Given the description of an element on the screen output the (x, y) to click on. 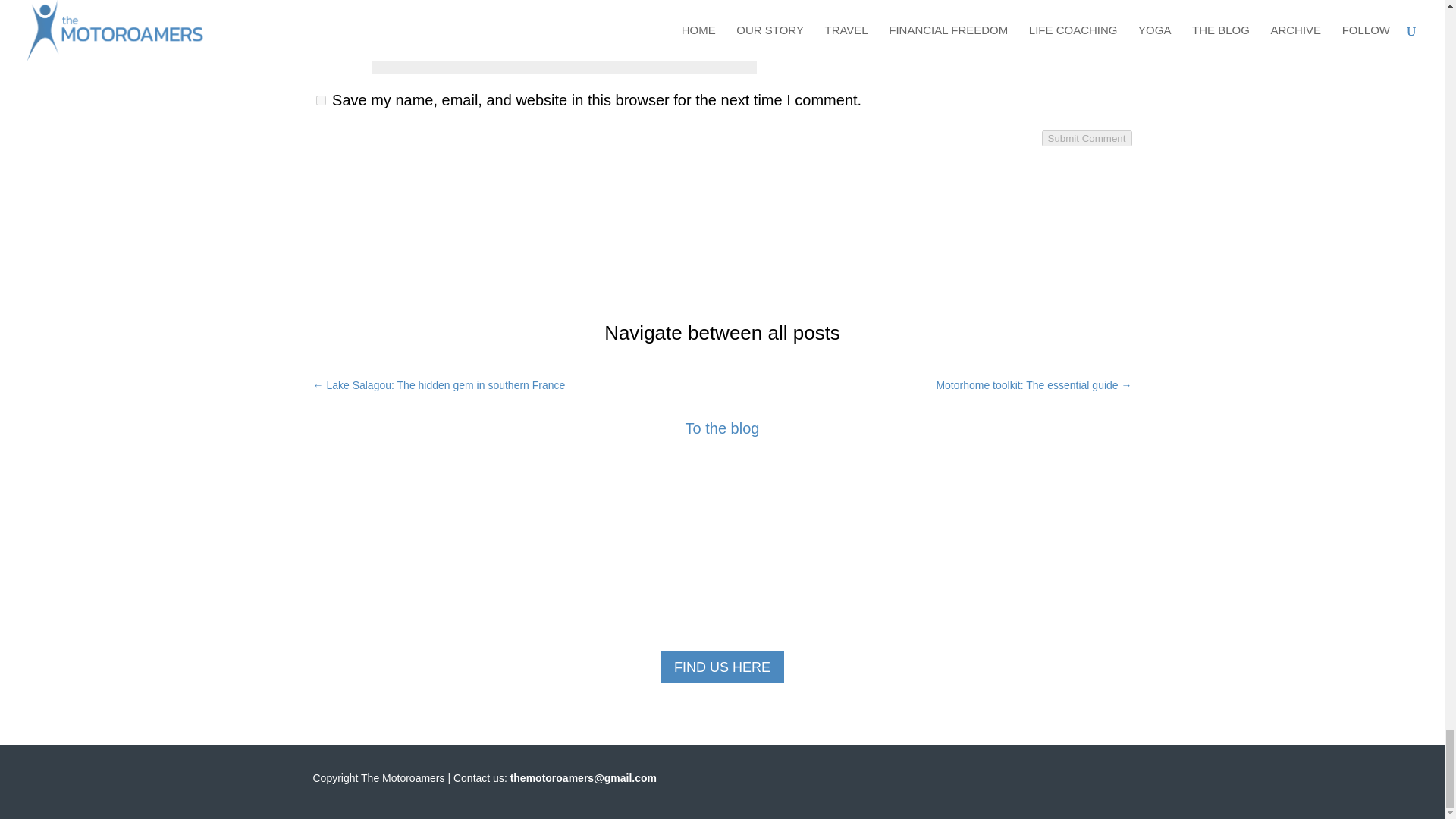
yes (319, 100)
Submit Comment (1087, 138)
To the blog (722, 428)
